Given the description of an element on the screen output the (x, y) to click on. 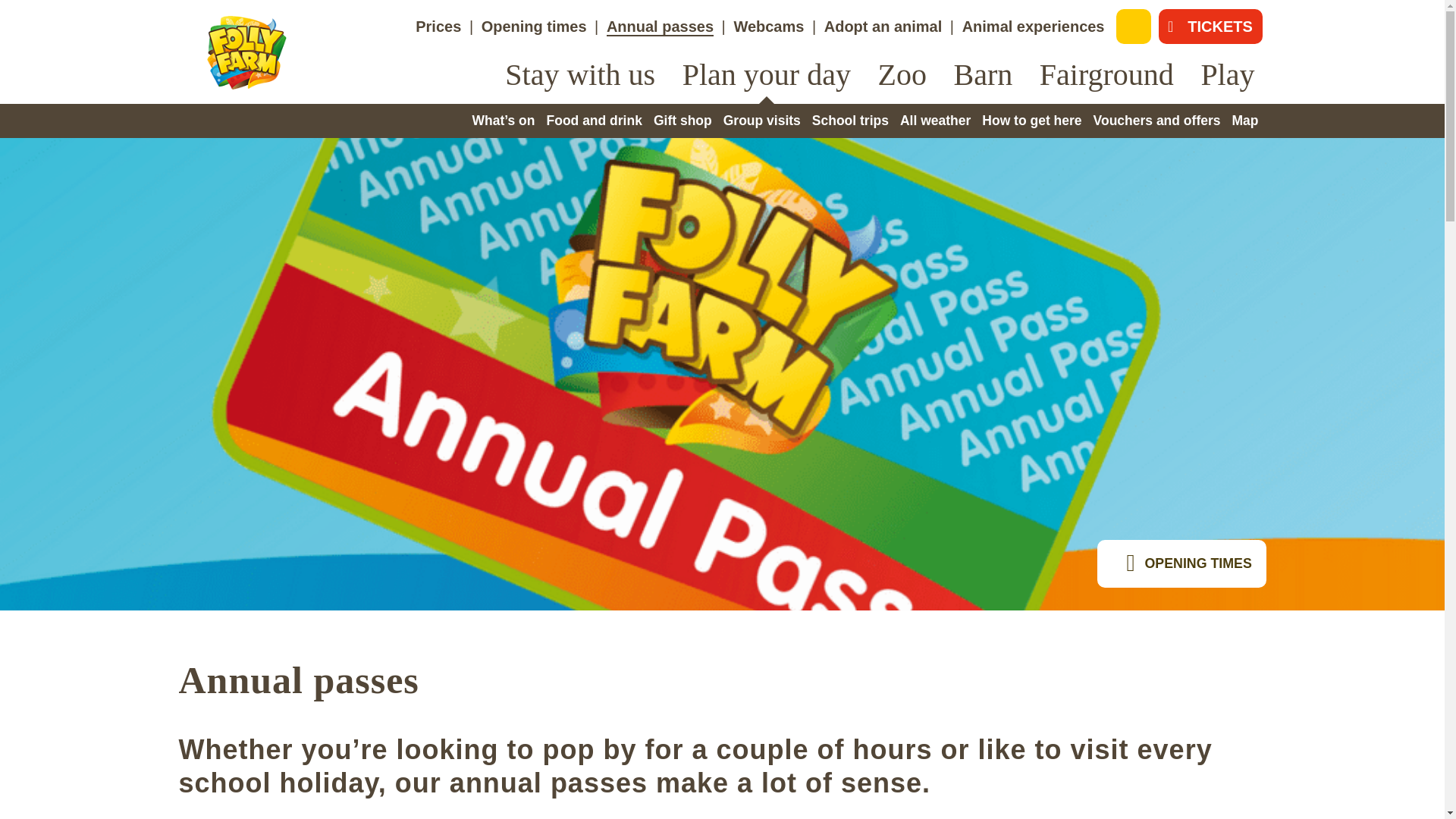
TICKETS (1210, 26)
School trips (850, 120)
Animal experiences (1033, 26)
Stay with us (580, 74)
Fairground (1106, 74)
Webcams (768, 26)
Play (1226, 74)
Map (1244, 120)
Food and drink (594, 120)
Zoo (901, 74)
Annual passes (660, 27)
Barn (982, 74)
How to get here (1031, 120)
Opening times (533, 26)
Plan your day (766, 74)
